Given the description of an element on the screen output the (x, y) to click on. 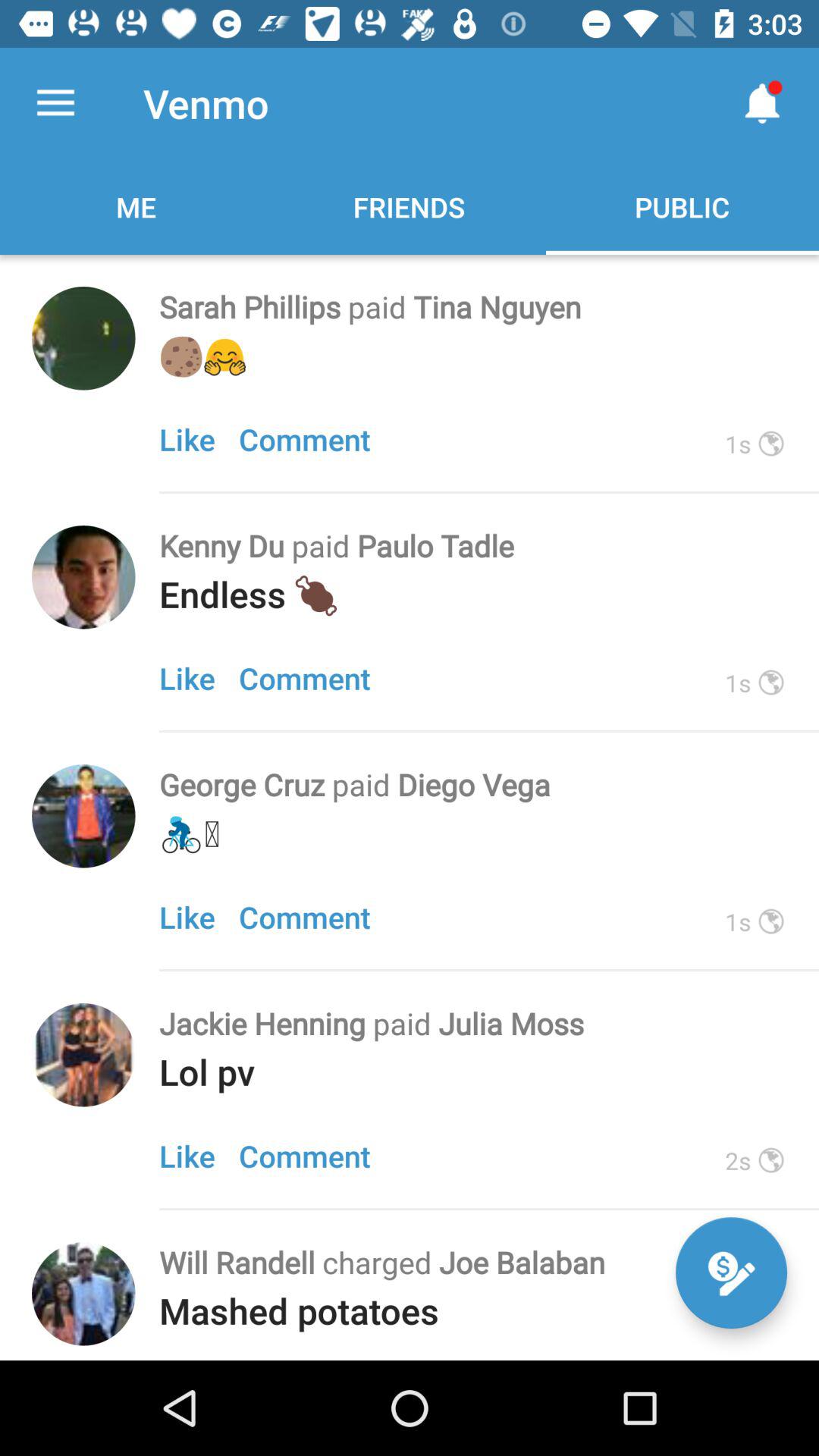
connect to friend (83, 1293)
